Given the description of an element on the screen output the (x, y) to click on. 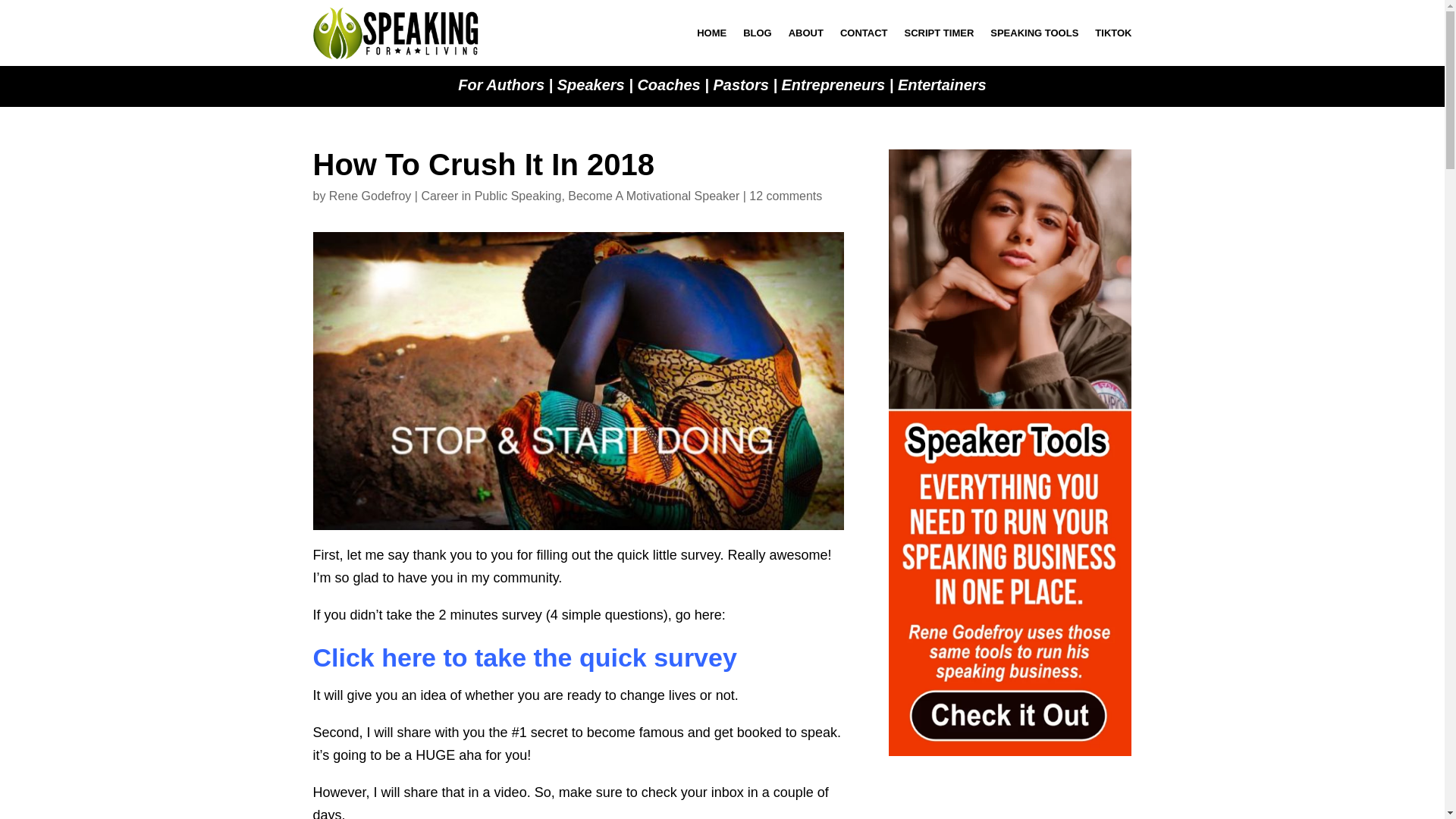
Posts by Rene Godefroy (370, 195)
Become A Motivational Speaker (653, 195)
Rene Godefroy (370, 195)
SPEAKING TOOLS (1034, 33)
Click here to take the quick survey (524, 656)
SCRIPT TIMER (939, 33)
12 comments (785, 195)
Career in Public Speaking (490, 195)
